Given the description of an element on the screen output the (x, y) to click on. 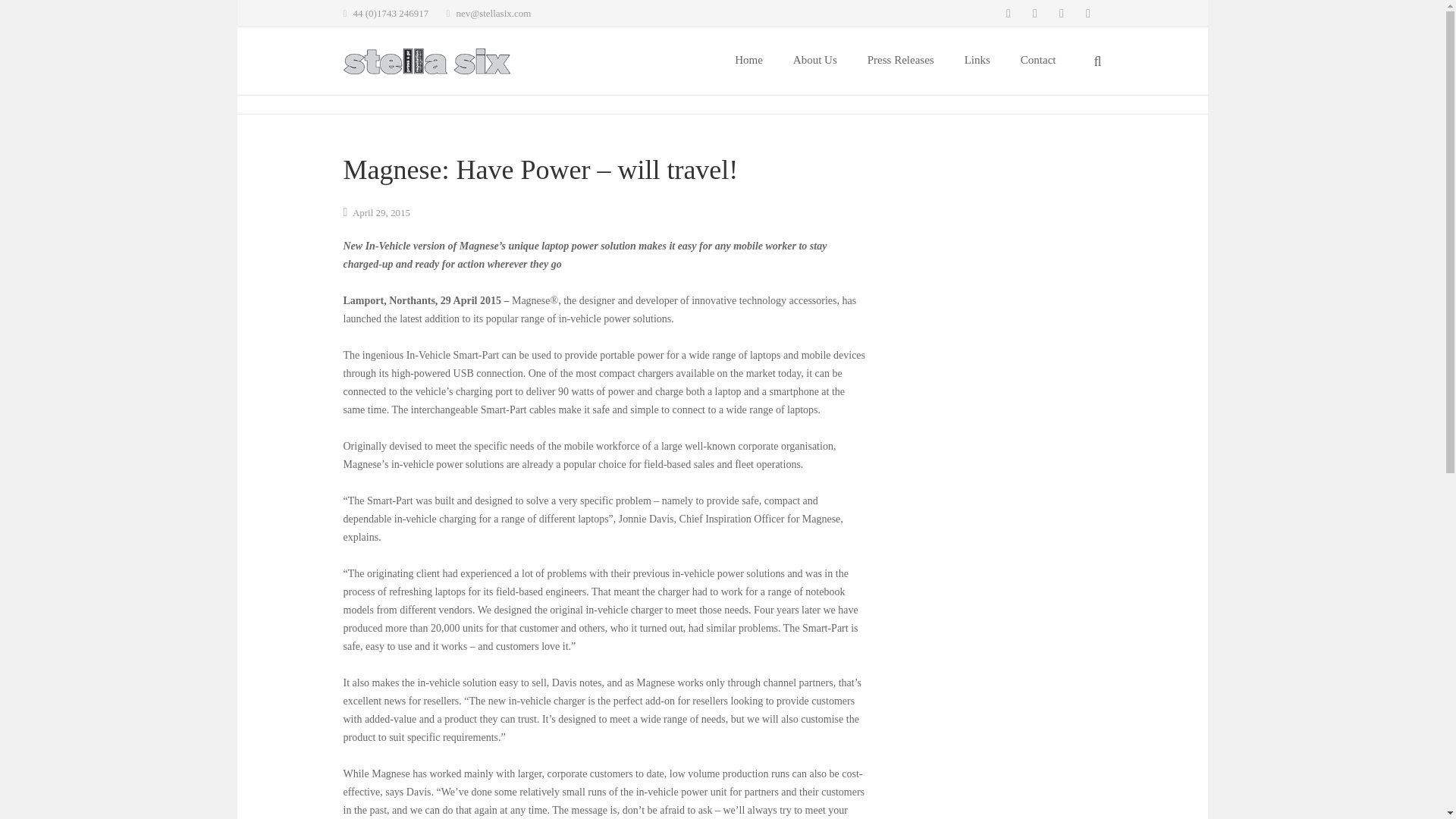
About Us (814, 60)
Search (1055, 13)
Press Releases (900, 60)
Contact (1038, 60)
Search (1055, 13)
Close search (1085, 13)
